Given the description of an element on the screen output the (x, y) to click on. 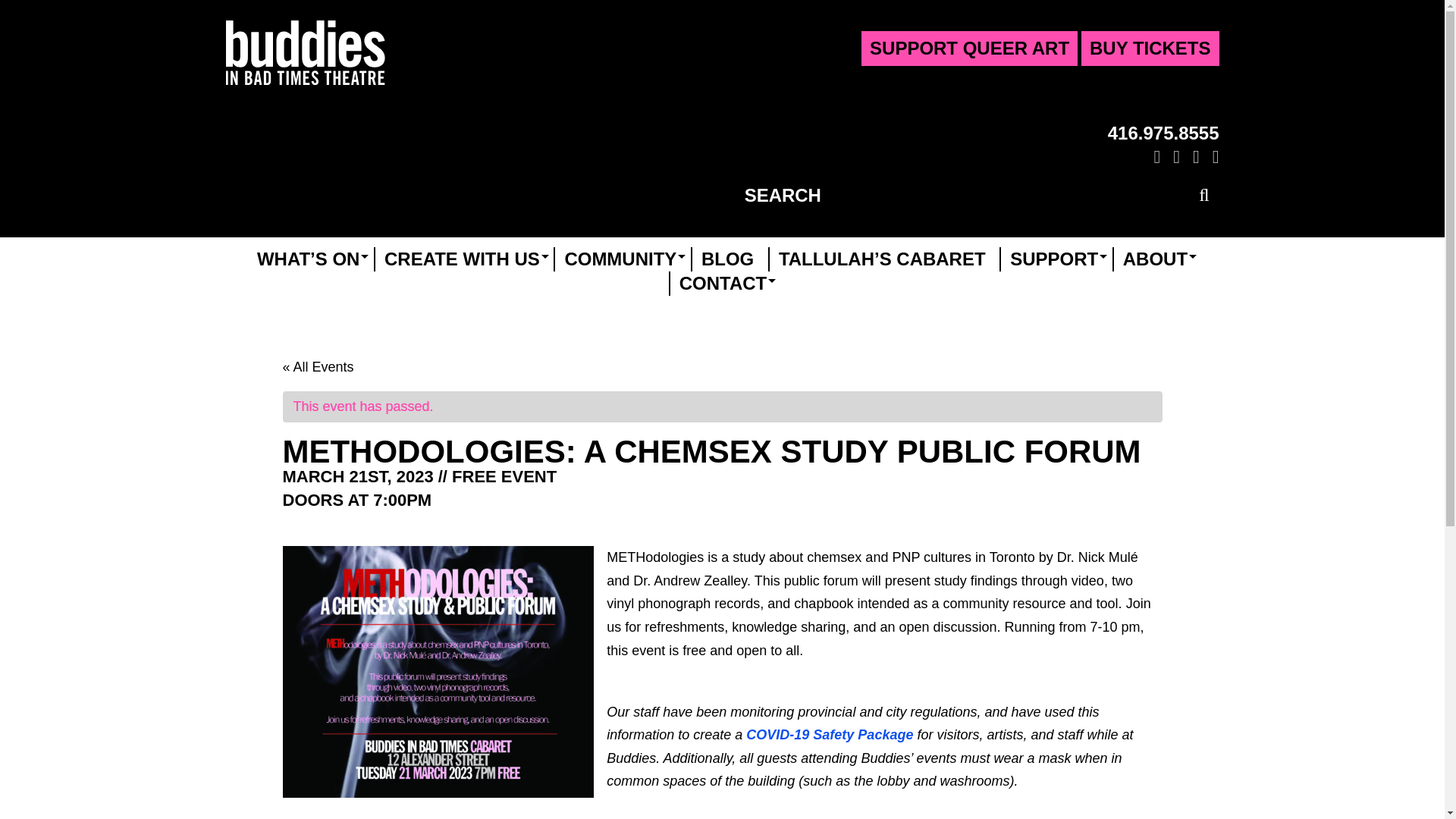
SUPPORT QUEER ART (969, 48)
SUPPORT (1053, 259)
Search (1201, 196)
YOUTUBE (1193, 155)
Search (1201, 196)
ABOUT (1154, 259)
BUY TICKETS (1149, 48)
CREATE WITH US (461, 259)
TWITTER (1173, 155)
BLOG (727, 259)
